Given the description of an element on the screen output the (x, y) to click on. 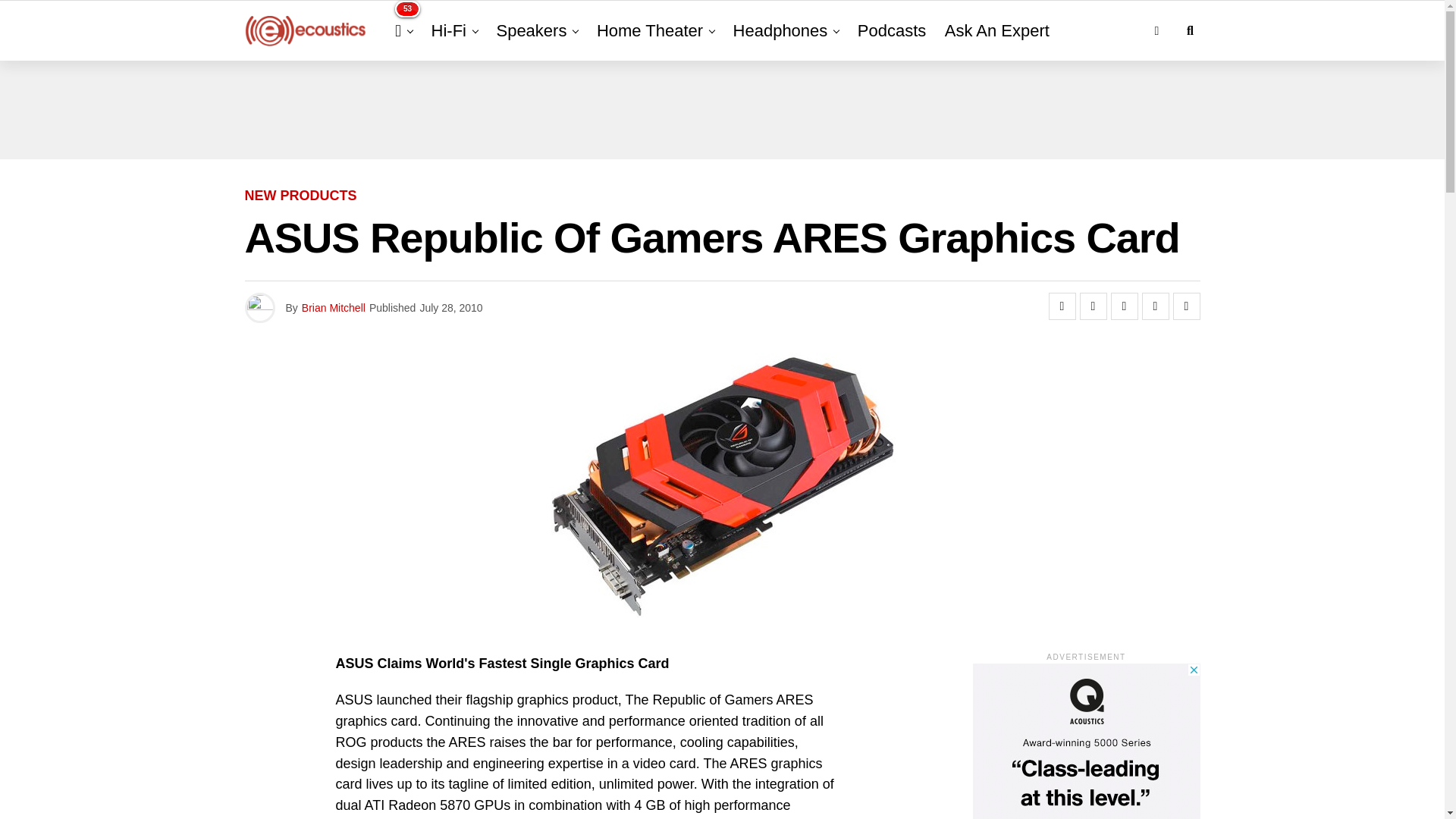
3rd party ad content (1085, 741)
643533.jpg (721, 484)
3rd party ad content (721, 110)
Posts by Brian Mitchell (333, 307)
Tweet This Post (1093, 306)
Share on Facebook (1061, 306)
